Given the description of an element on the screen output the (x, y) to click on. 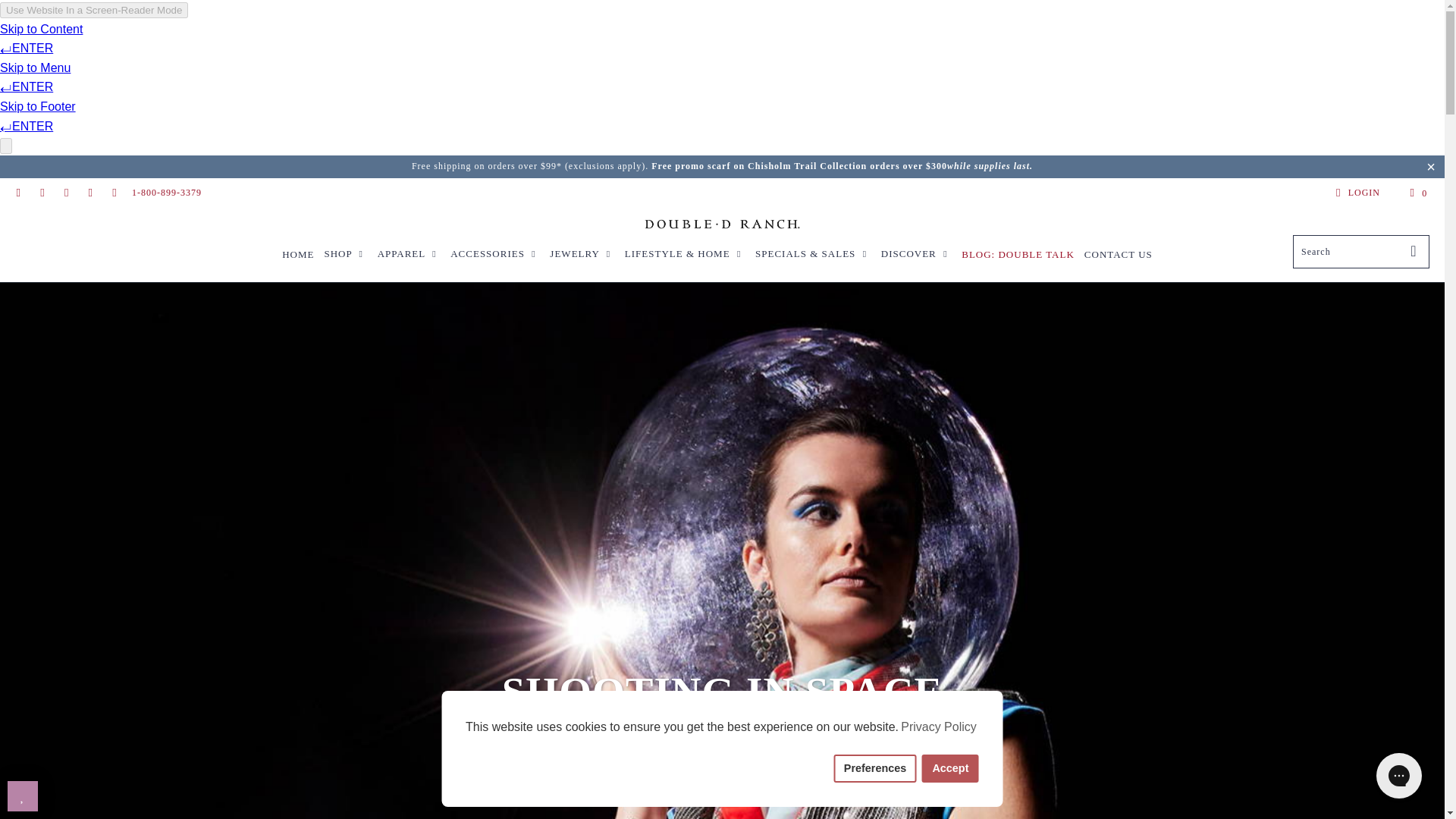
Double D Ranch on Pinterest (89, 193)
My Account  (1355, 193)
Double D Ranch (722, 225)
CHISHOLM TRAIL (798, 165)
Double D Ranch on Twitter (113, 193)
Double D Ranch on Instagram (65, 193)
Email Double D Ranch (17, 193)
Double D Ranch on Facebook (41, 193)
